Given the description of an element on the screen output the (x, y) to click on. 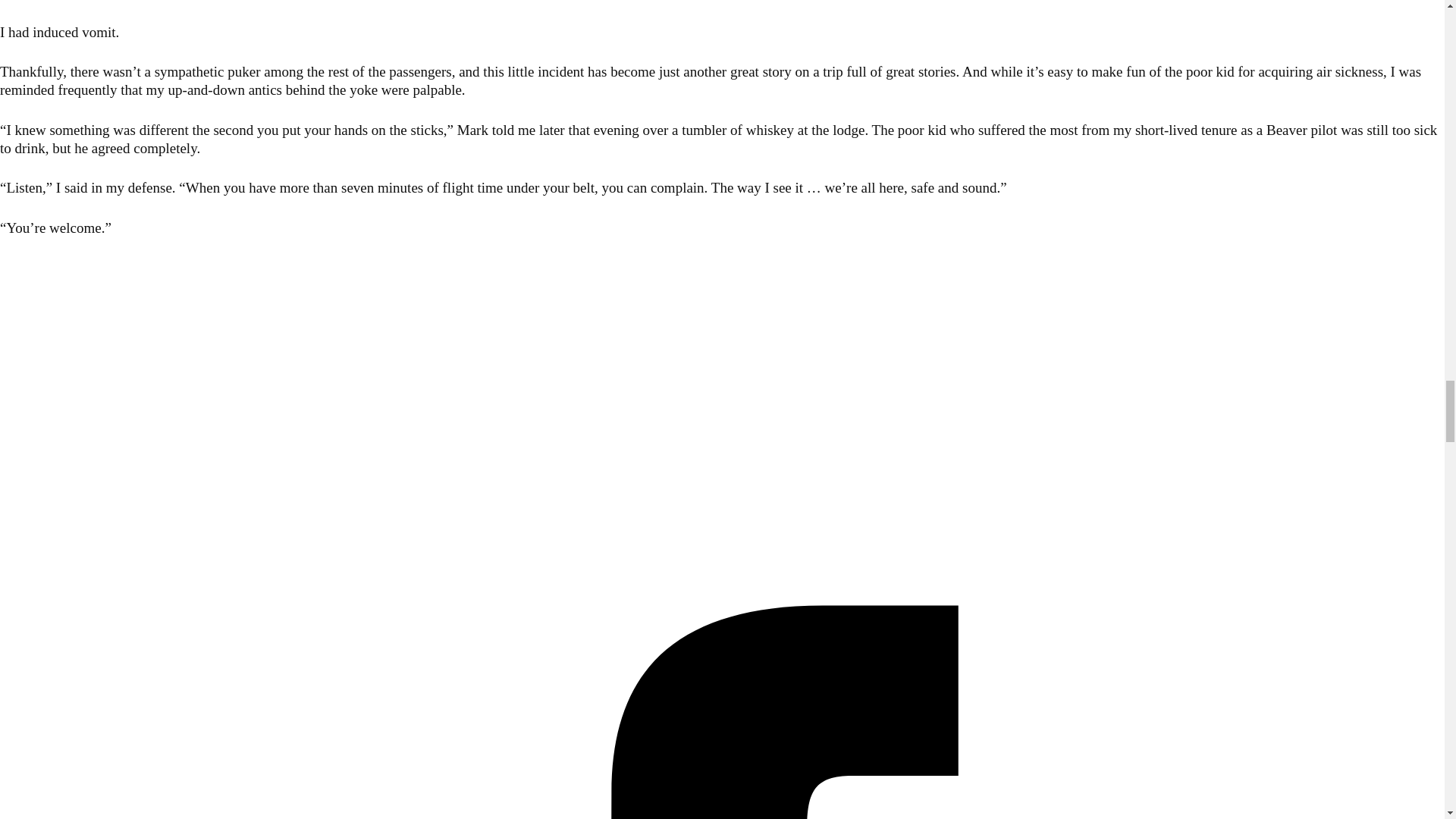
ALASKA (20, 286)
FLOAT PLANES (37, 324)
TRAVEL (19, 343)
ONTARIO (22, 306)
